Given the description of an element on the screen output the (x, y) to click on. 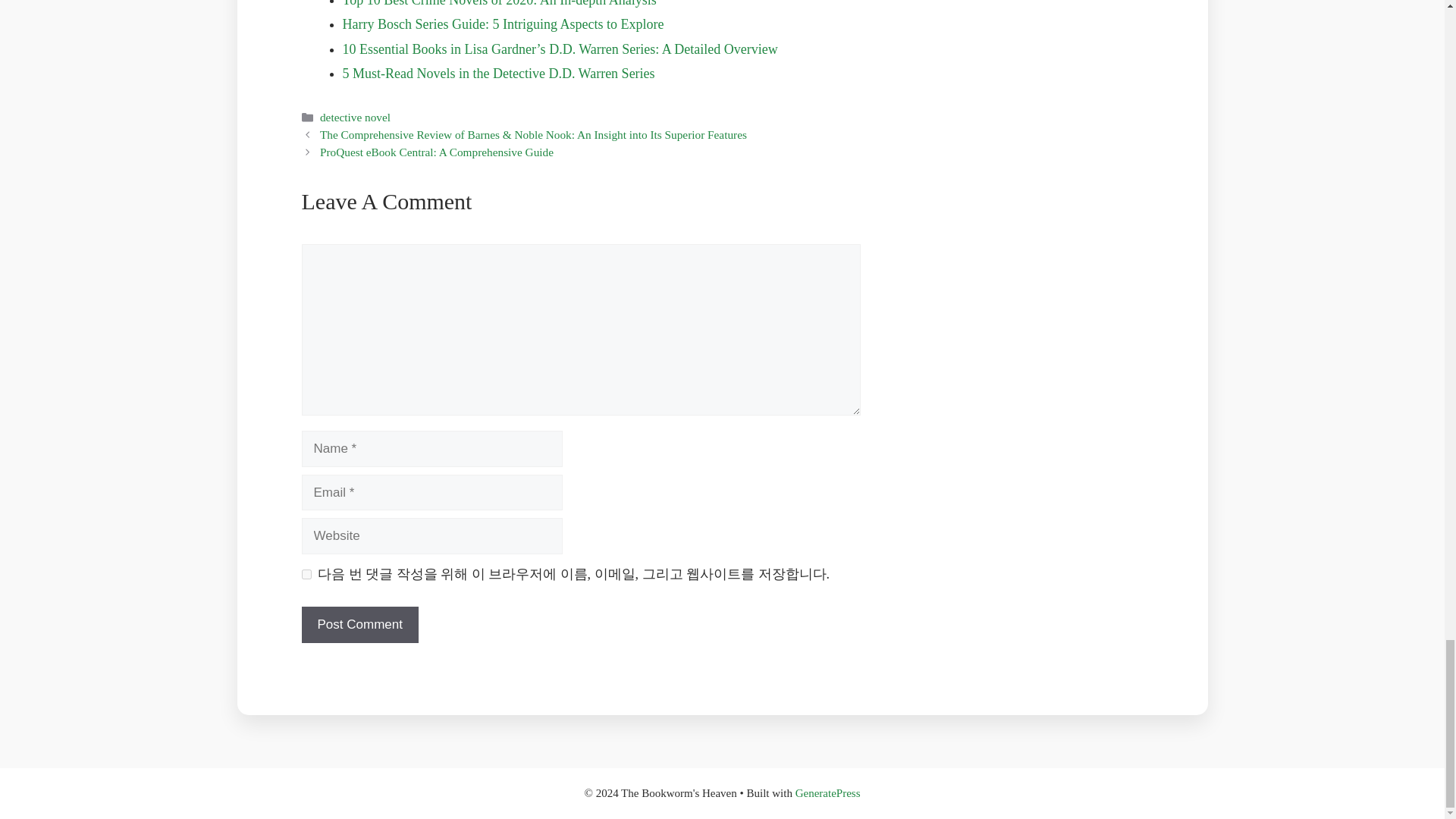
Harry Bosch Series Guide: 5 Intriguing Aspects to Explore (502, 23)
Top 10 Best Crime Novels of 2020: An In-depth Analysis (499, 3)
5 Must-Read Novels in the Detective D.D. Warren Series (498, 73)
ProQuest eBook Central: A Comprehensive Guide (436, 151)
Post Comment (360, 624)
detective novel (355, 116)
Post Comment (360, 624)
yes (306, 574)
